Given the description of an element on the screen output the (x, y) to click on. 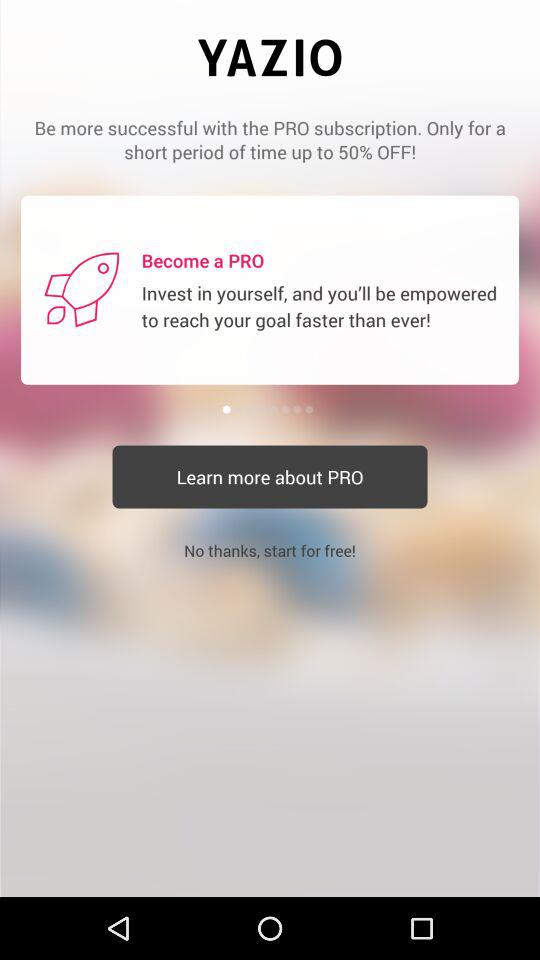
turn on the icon below the learn more about item (269, 550)
